Given the description of an element on the screen output the (x, y) to click on. 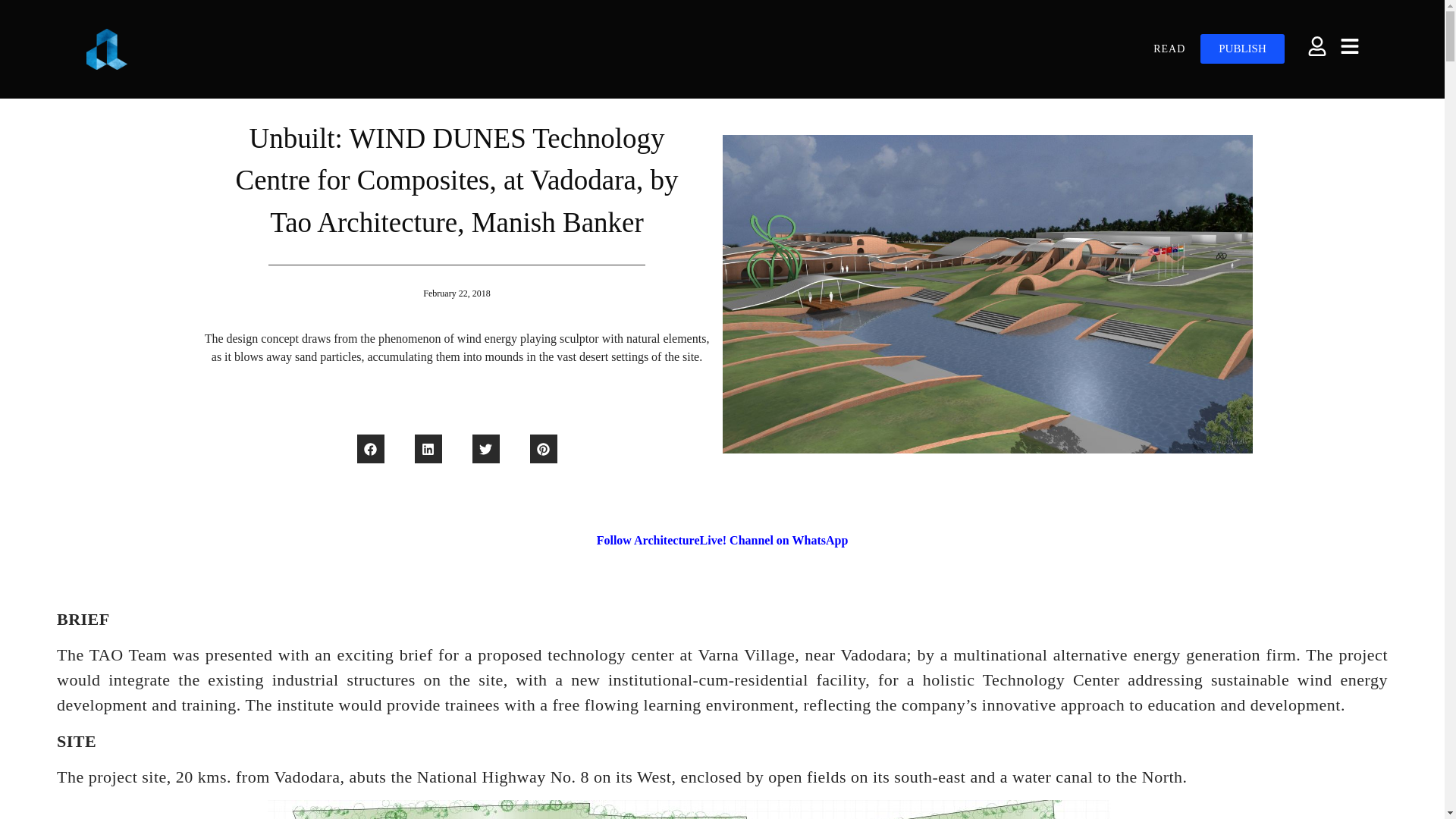
PUBLISH (1241, 48)
Follow ArchitectureLive! Channel on WhatsApp (722, 540)
READ (1169, 49)
February 22, 2018 (456, 293)
